Given the description of an element on the screen output the (x, y) to click on. 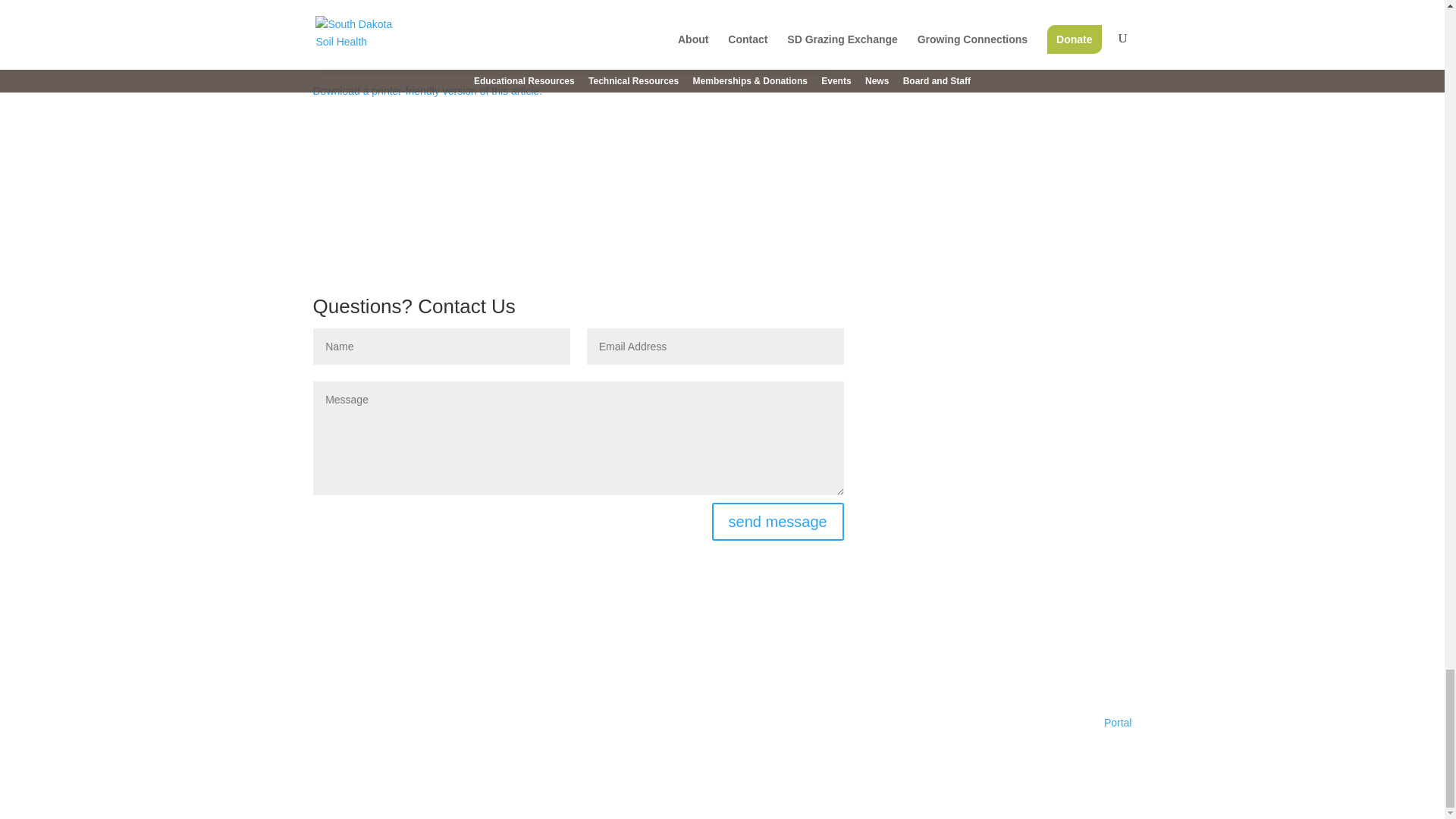
send message (777, 521)
Download a printer-friendly version of this article. (427, 91)
Portal (1117, 722)
